Given the description of an element on the screen output the (x, y) to click on. 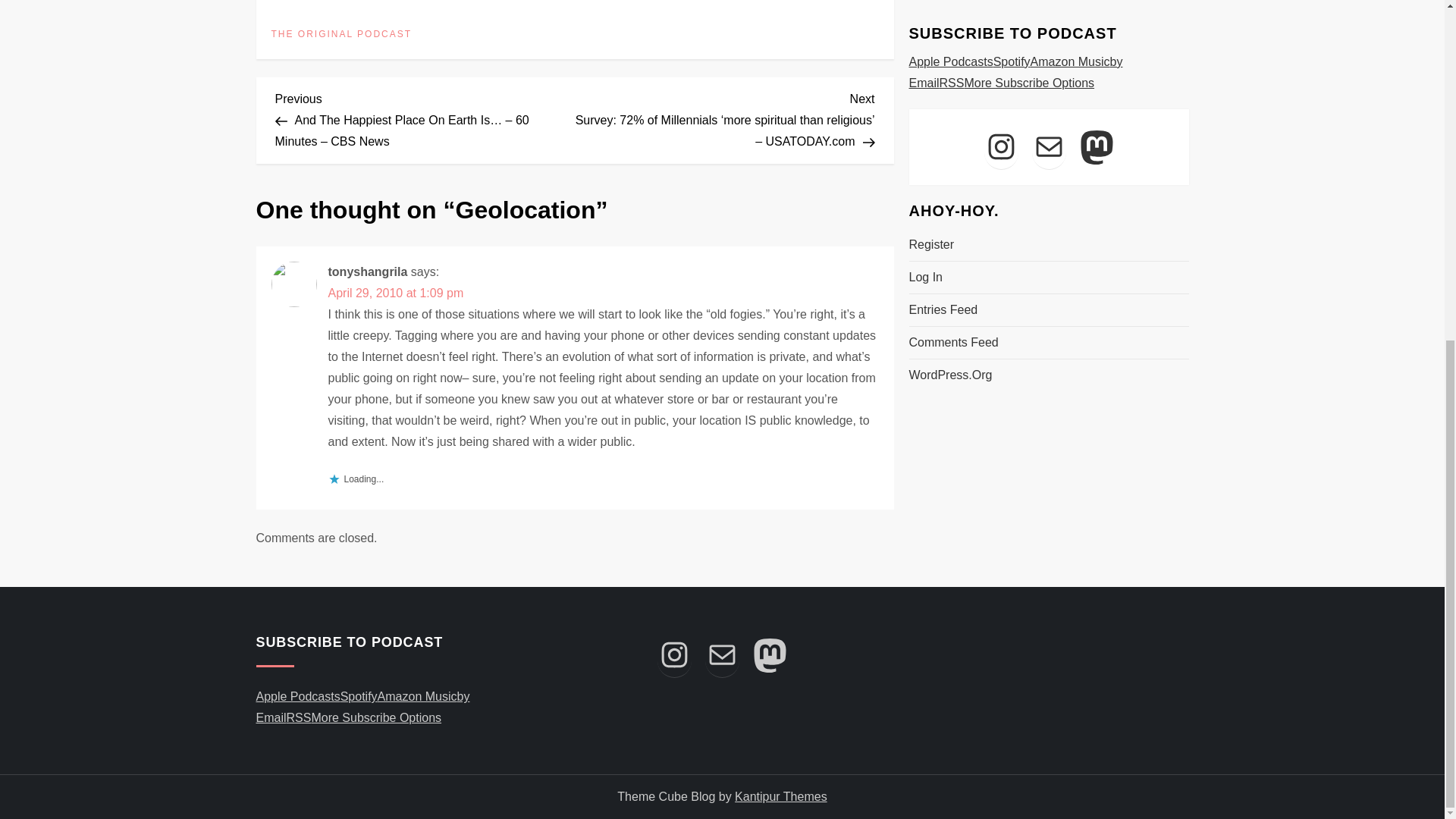
April 29, 2010 at 1:09 pm (395, 292)
Subscribe on Apple Podcasts (298, 696)
Subscribe on Spotify (358, 696)
Apple Podcasts (298, 696)
Subscribe on Amazon Music (417, 696)
THE ORIGINAL PODCAST (341, 34)
Spotify (358, 696)
